Given the description of an element on the screen output the (x, y) to click on. 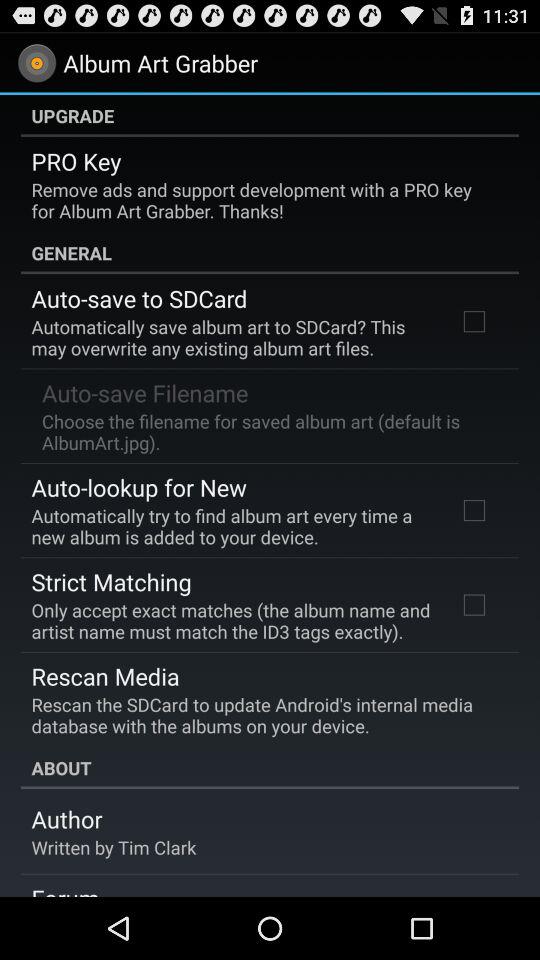
choose only accept exact item (231, 620)
